Given the description of an element on the screen output the (x, y) to click on. 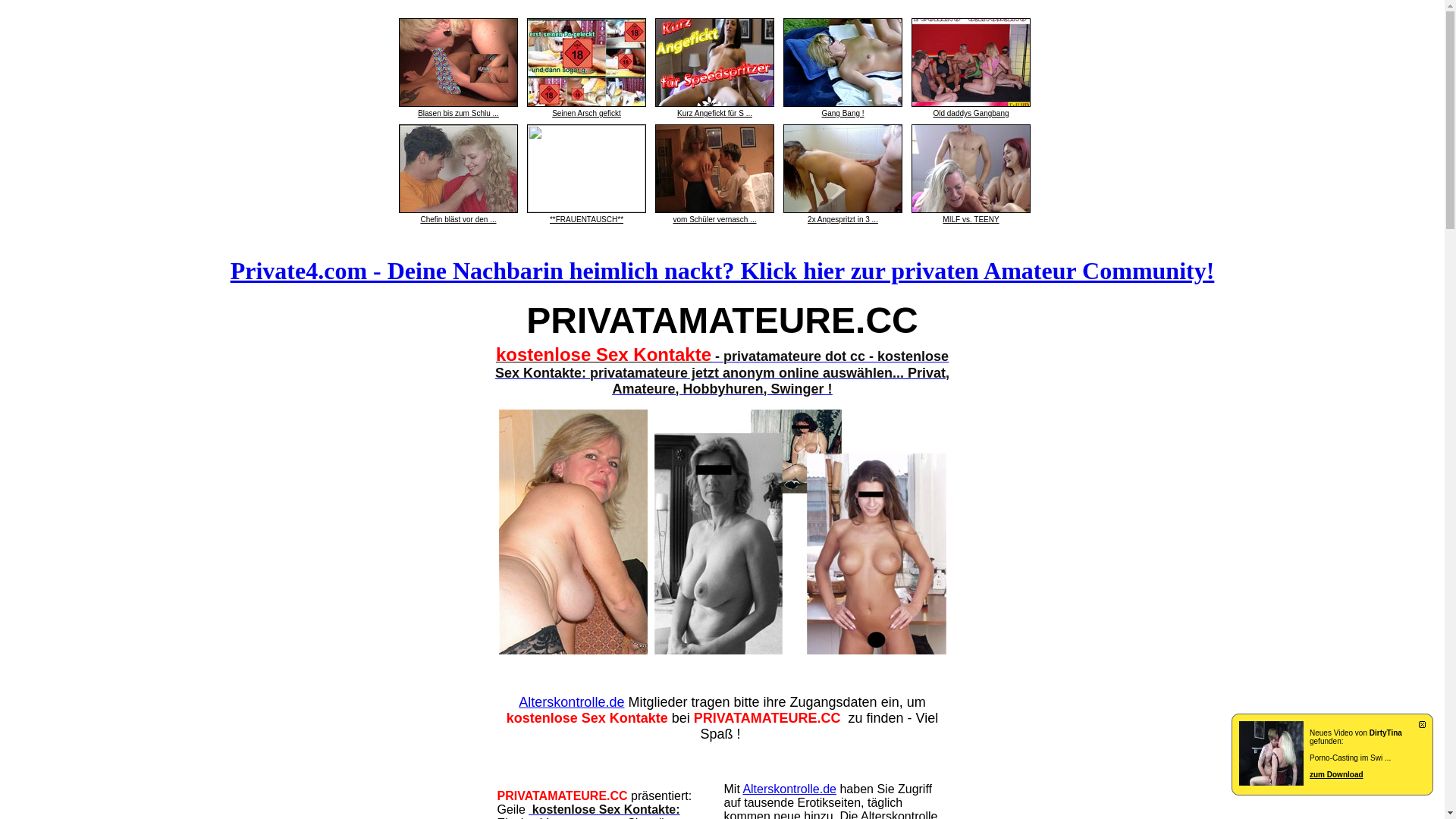
Alterskontrolle.de Element type: text (571, 701)
Alterskontrolle.de Element type: text (789, 788)
 kostenlose Sex Kontakte: Element type: text (603, 809)
